Given the description of an element on the screen output the (x, y) to click on. 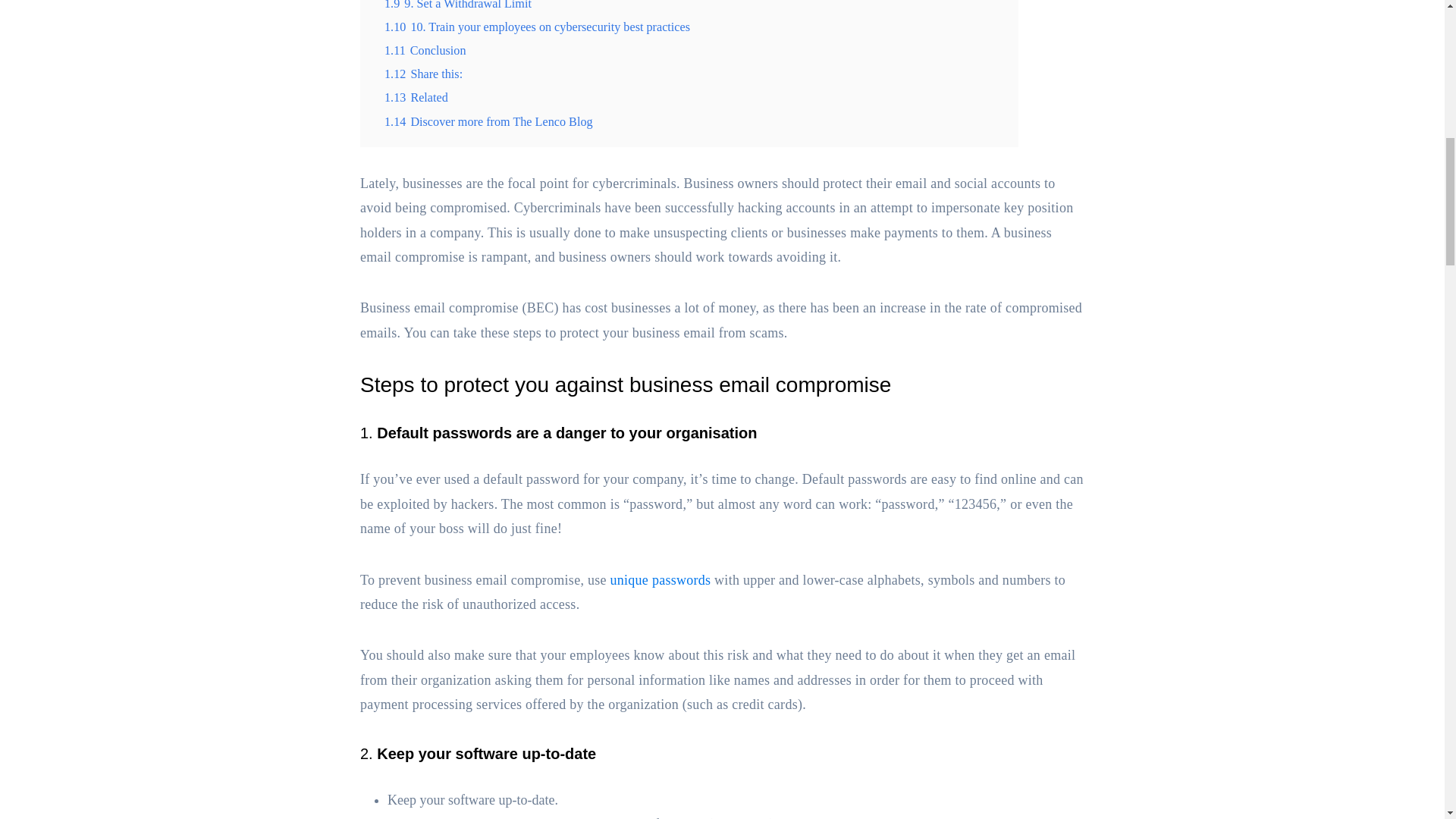
unique passwords (660, 580)
1.12 Share this: (423, 74)
1.11 Conclusion (424, 50)
1.13 Related (416, 97)
1.14 Discover more from The Lenco Blog (488, 121)
1.9 9. Set a Withdrawal Limit (457, 5)
